Given the description of an element on the screen output the (x, y) to click on. 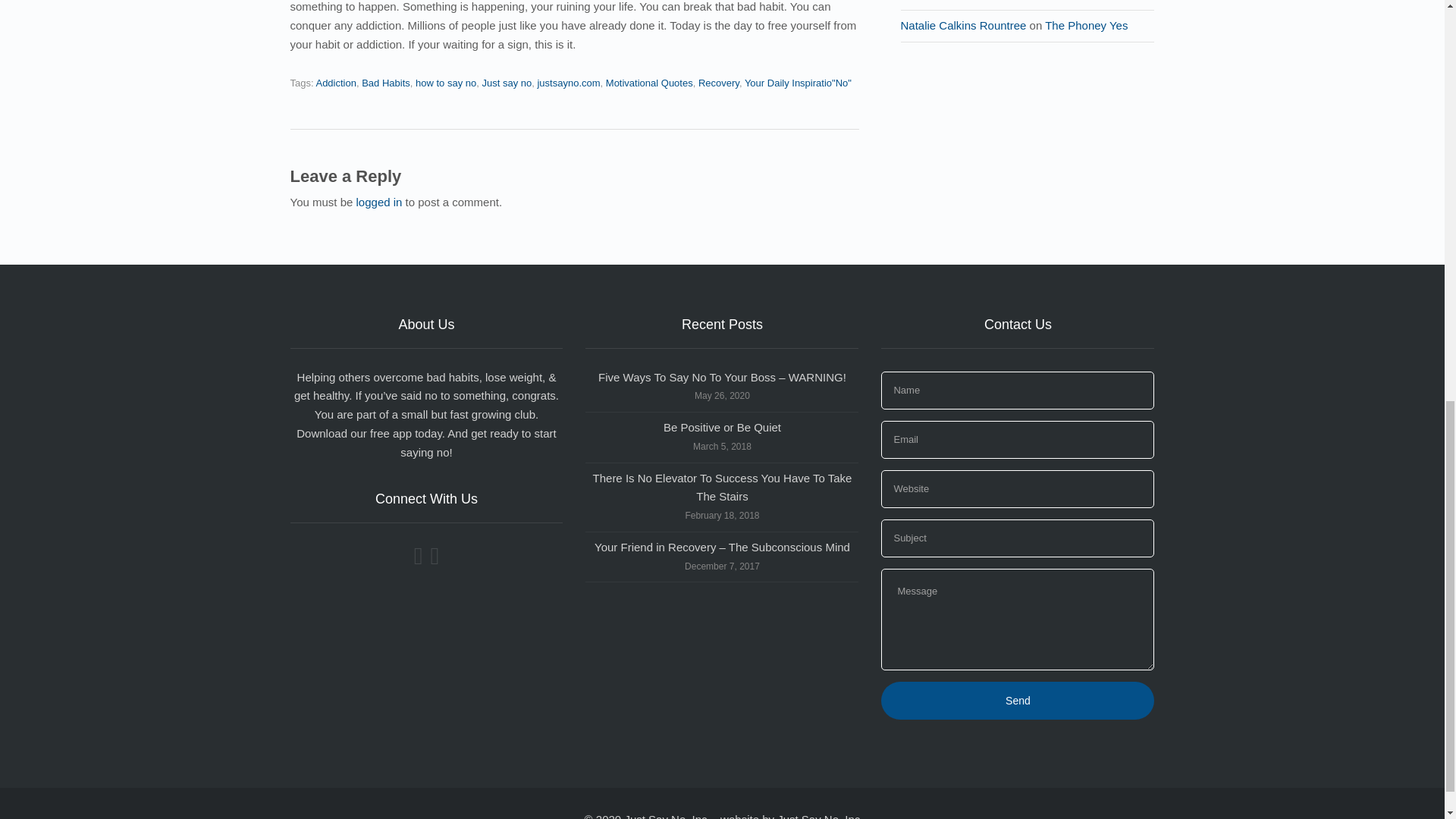
Natalie Calkins Rountree (963, 24)
justsayno.com (568, 82)
Just say no (506, 82)
The Phoney Yes (1085, 24)
Bad Habits (385, 82)
how to say no (445, 82)
Send (1017, 700)
Motivational Quotes (649, 82)
logged in (379, 201)
Addiction (335, 82)
Recovery (718, 82)
Your Daily Inspiratio"No" (797, 82)
